Given the description of an element on the screen output the (x, y) to click on. 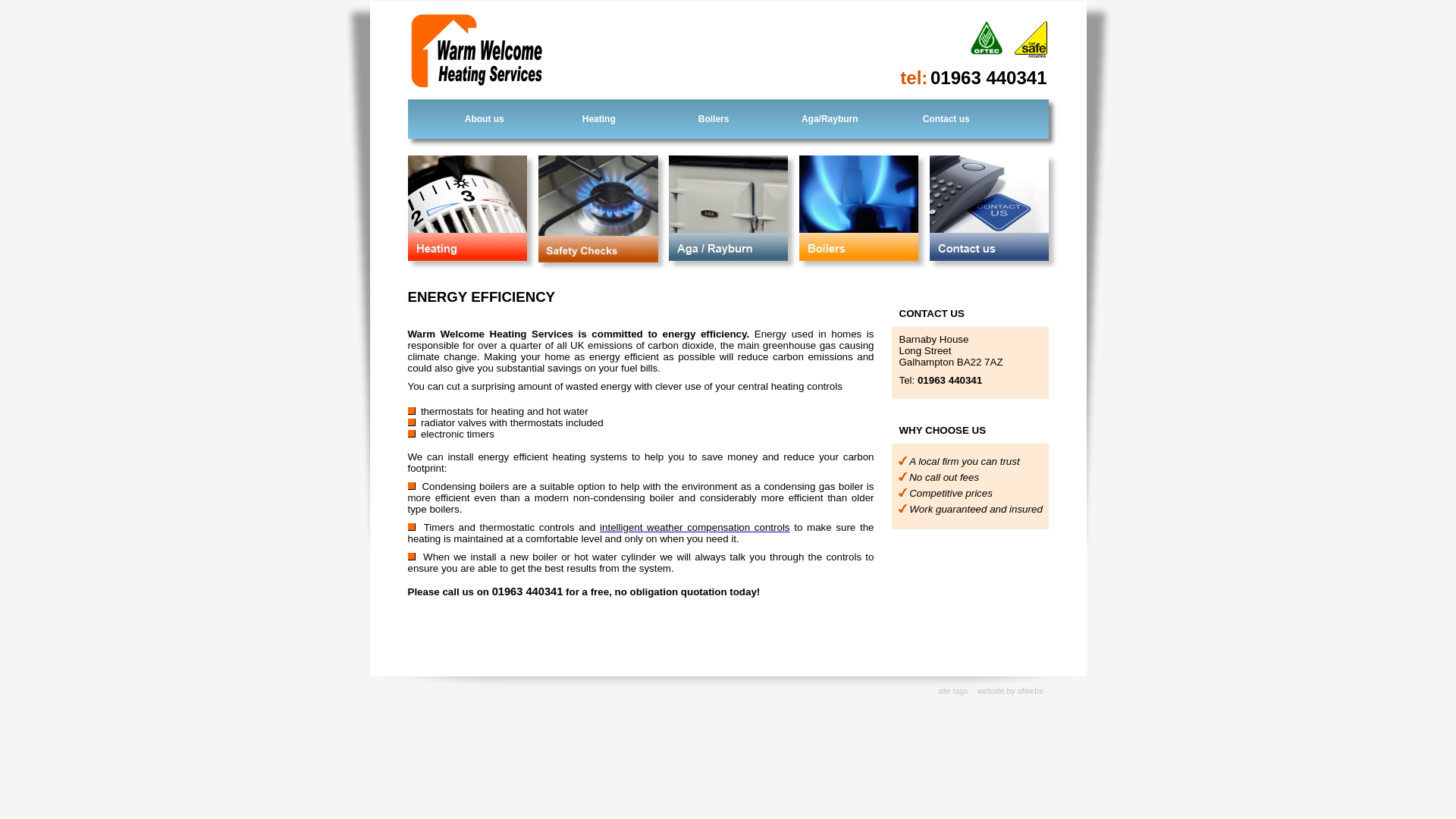
intelligent weather compensation controls (694, 527)
Heating (598, 118)
website by afwebs (1009, 690)
site tags (952, 690)
About us (483, 118)
Boilers (713, 118)
Contact us (945, 118)
